Given the description of an element on the screen output the (x, y) to click on. 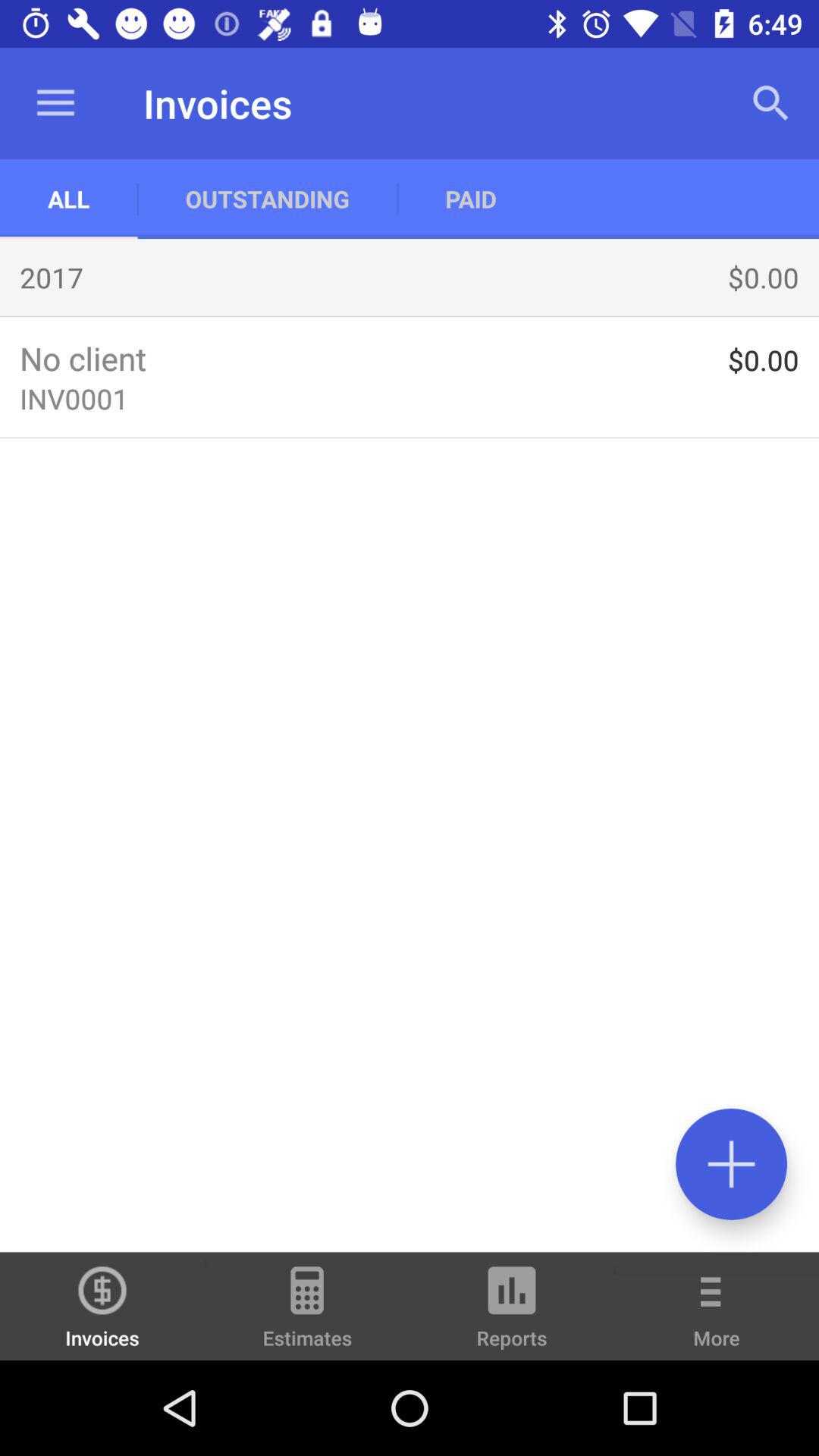
turn on item to the left of outstanding icon (55, 103)
